Given the description of an element on the screen output the (x, y) to click on. 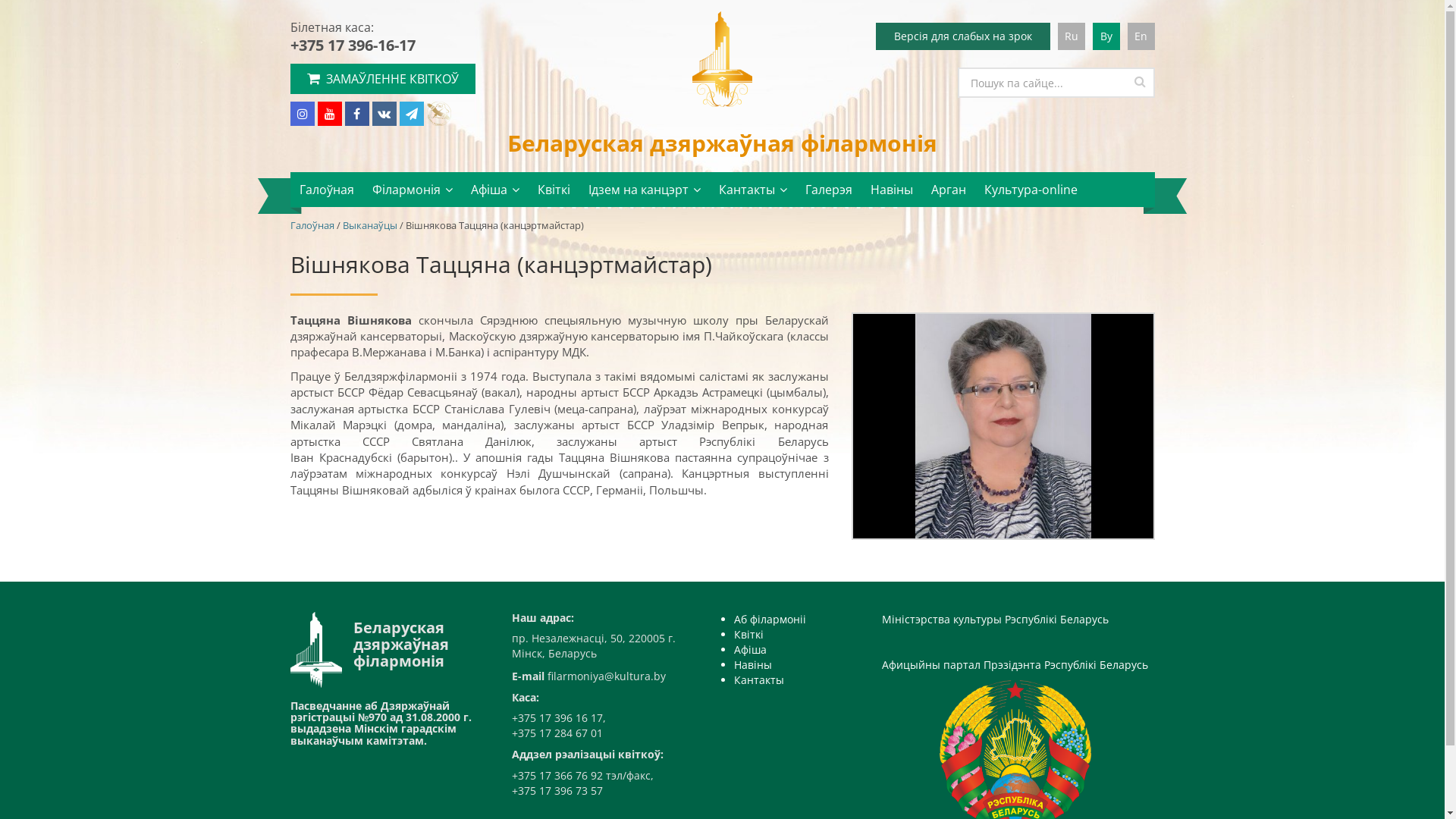
<i class="fa fa-search" aria-hidden="true"></i> Element type: text (1139, 80)
Ru Element type: text (1070, 36)
VK Element type: hover (383, 113)
En Element type: text (1140, 36)
By Element type: text (1105, 36)
Telegram Element type: hover (410, 113)
